Given the description of an element on the screen output the (x, y) to click on. 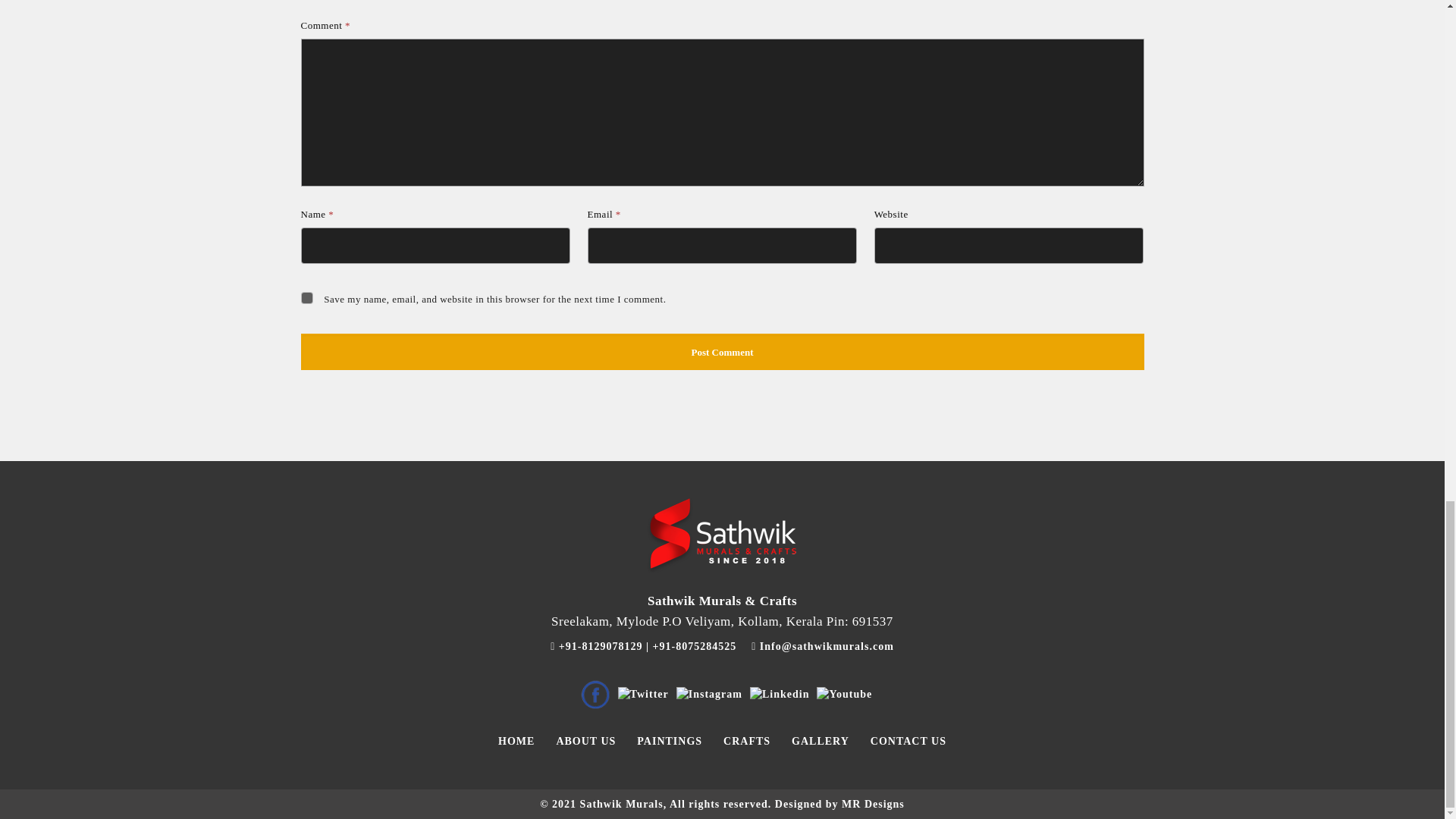
Linkedin (779, 694)
yes (306, 297)
Twitter (642, 694)
Facebook (594, 694)
Instagram (709, 694)
Youtube (844, 694)
Post Comment (720, 351)
